Given the description of an element on the screen output the (x, y) to click on. 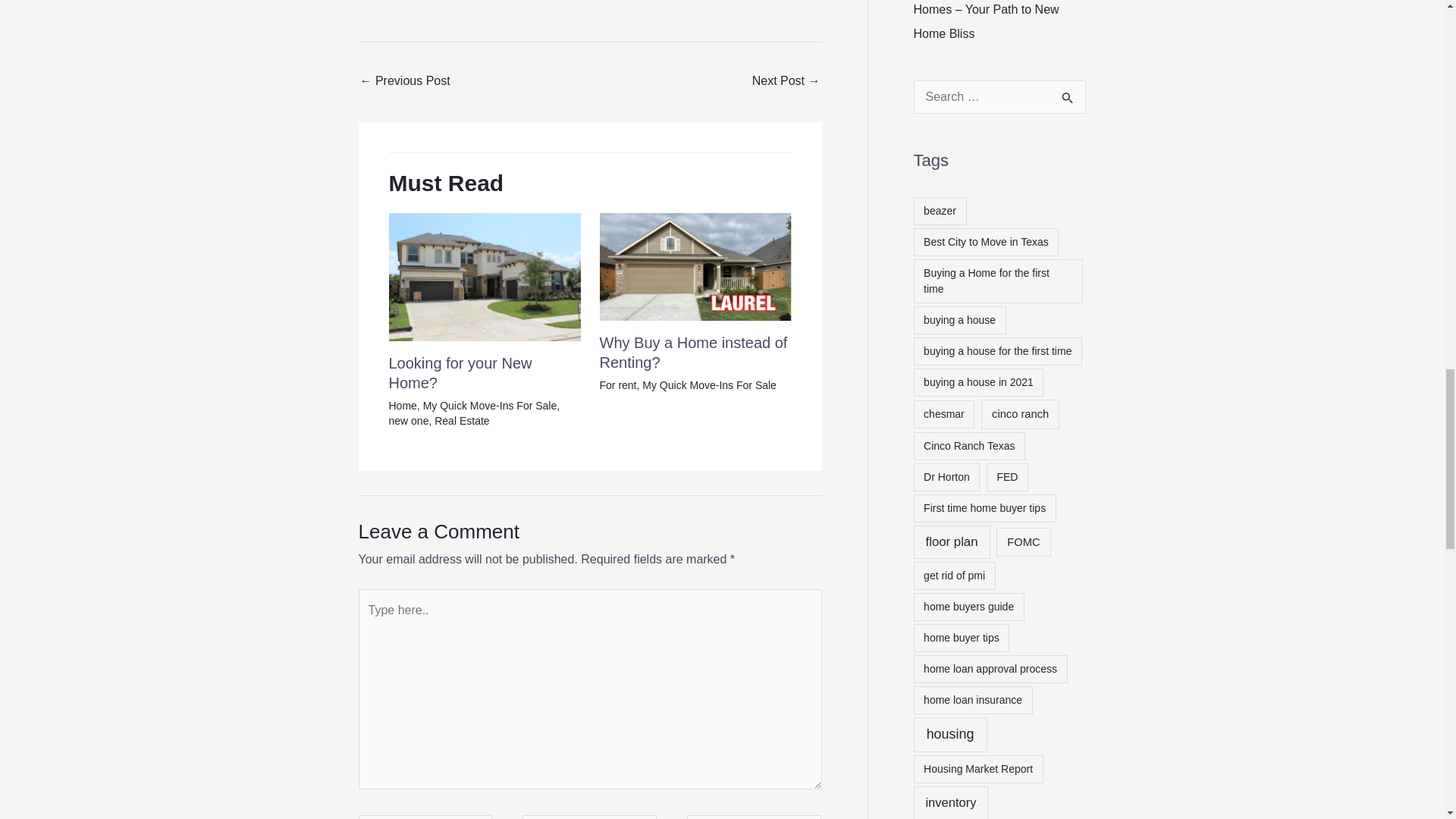
Search (1067, 96)
Home (402, 405)
new one (408, 420)
Looking for your New Home? (459, 372)
My Quick Move-Ins For Sale (490, 405)
Are you still thinking It over? (404, 81)
My Quick Move-Ins For Sale (709, 385)
New Home Know It All  (483, 276)
New Home Know It All  (694, 266)
Why Buy a Home instead of Renting? (692, 352)
For rent (617, 385)
Search (1067, 96)
Real Estate (461, 420)
